Given the description of an element on the screen output the (x, y) to click on. 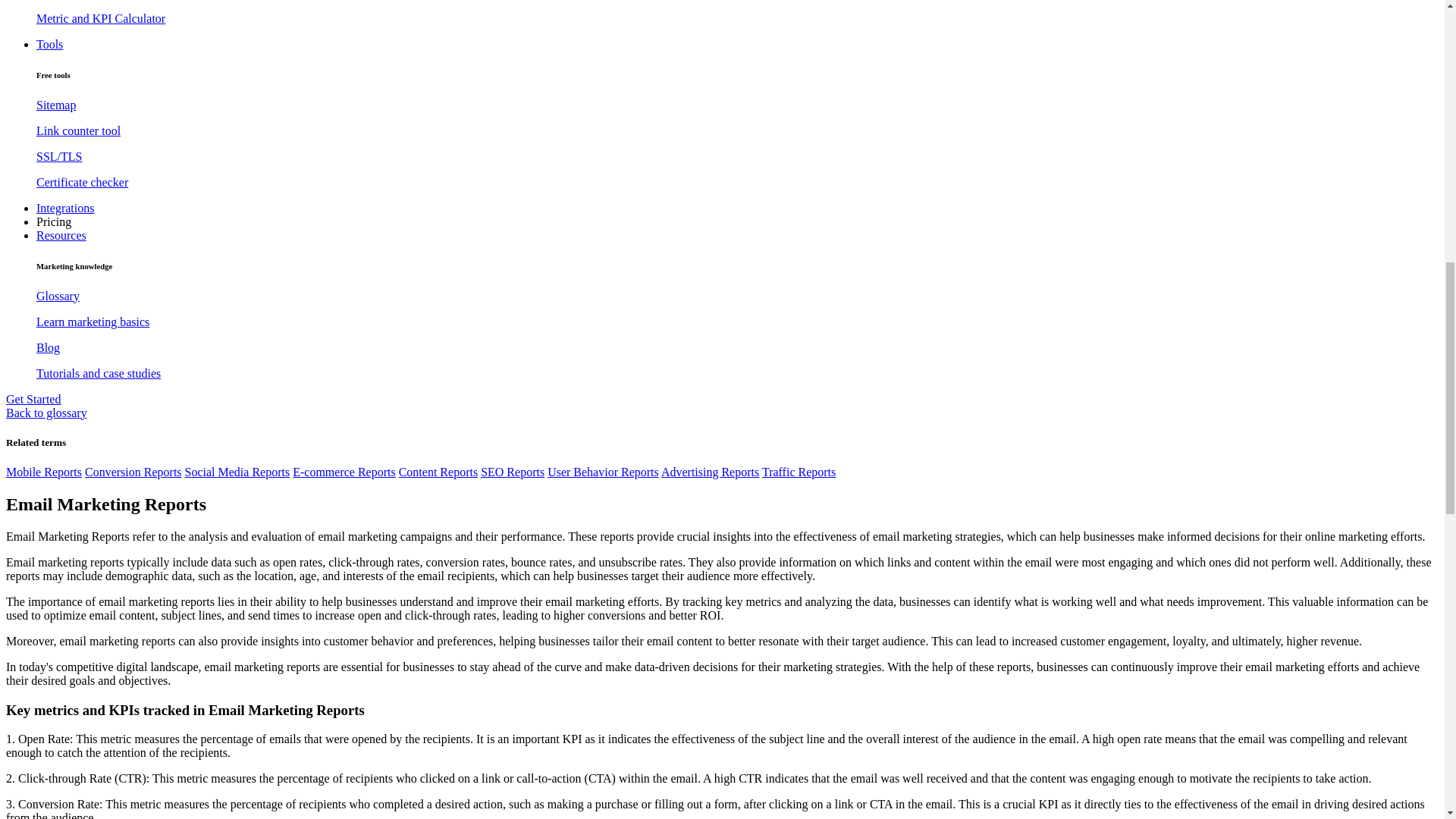
Mobile Reports (43, 472)
User Behavior Reports (603, 472)
Pricing (53, 221)
E-commerce Reports (344, 472)
Integrations (65, 207)
Get Started (33, 399)
Conversion Reports (133, 472)
SEO Reports (512, 472)
Content Reports (437, 472)
Advertising Reports (709, 472)
